Given the description of an element on the screen output the (x, y) to click on. 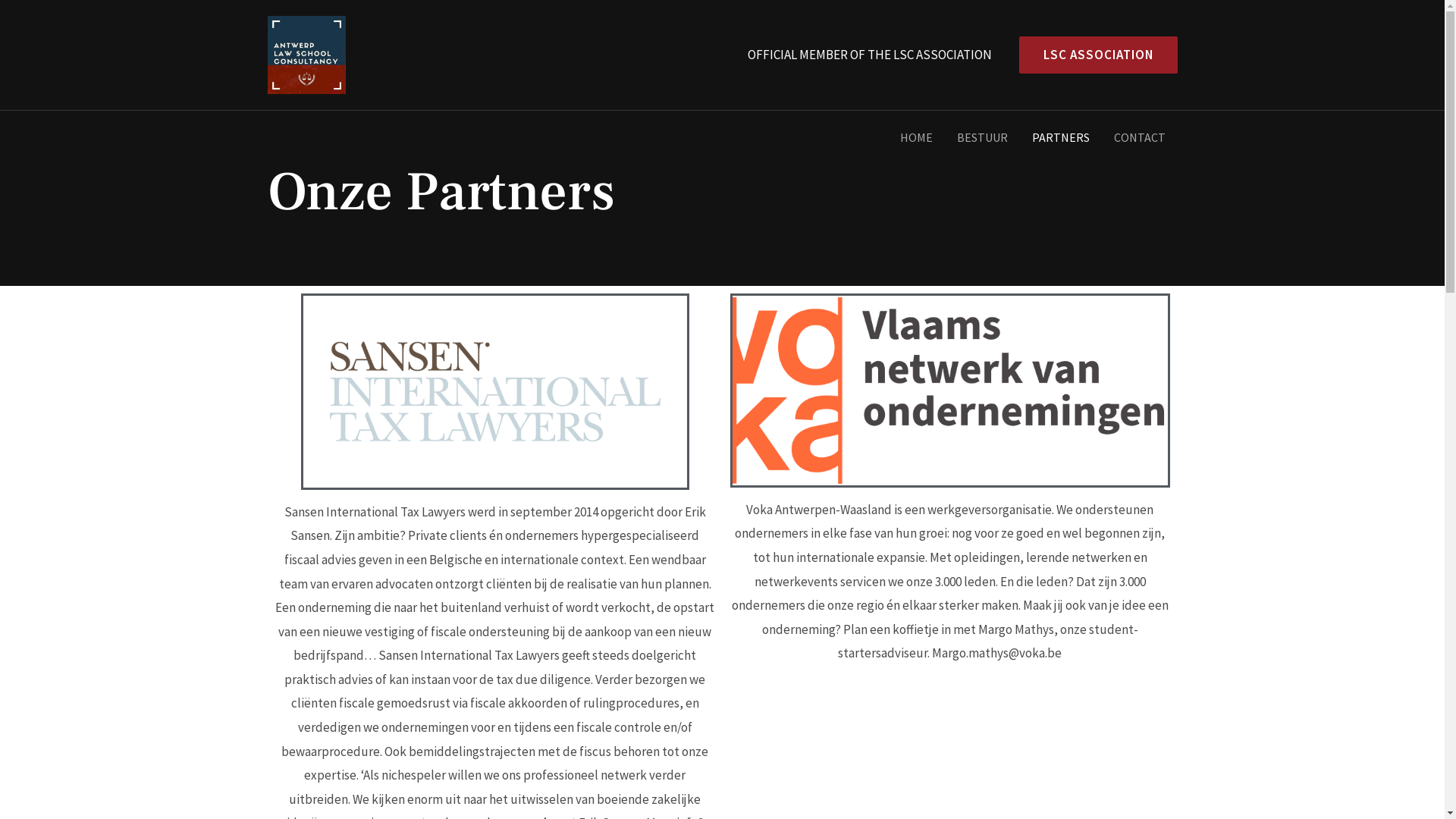
LSC ASSOCIATION Element type: text (1092, 54)
BESTUUR Element type: text (981, 136)
CONTACT Element type: text (1138, 136)
PARTNERS Element type: text (1060, 136)
HOME Element type: text (915, 136)
